Given the description of an element on the screen output the (x, y) to click on. 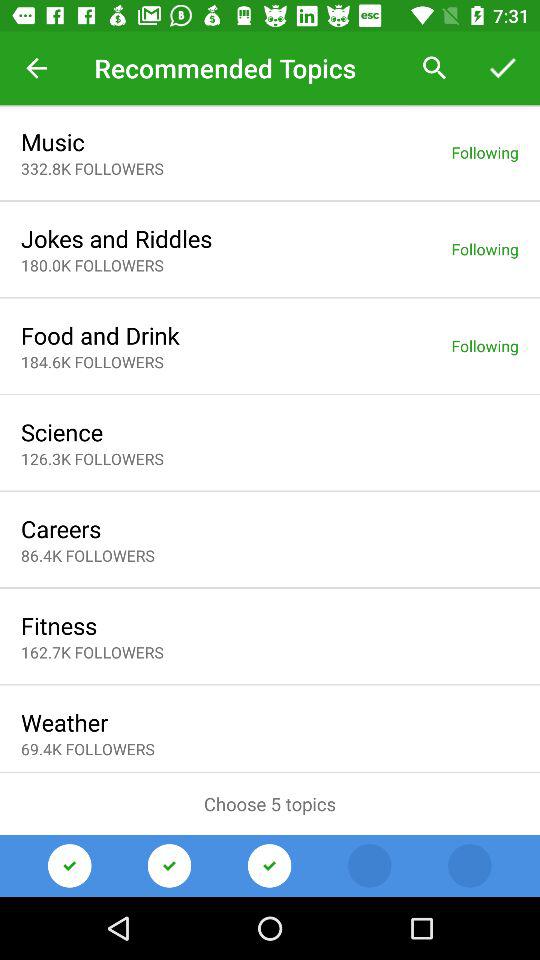
choose app to the right of recommended topics (434, 67)
